Given the description of an element on the screen output the (x, y) to click on. 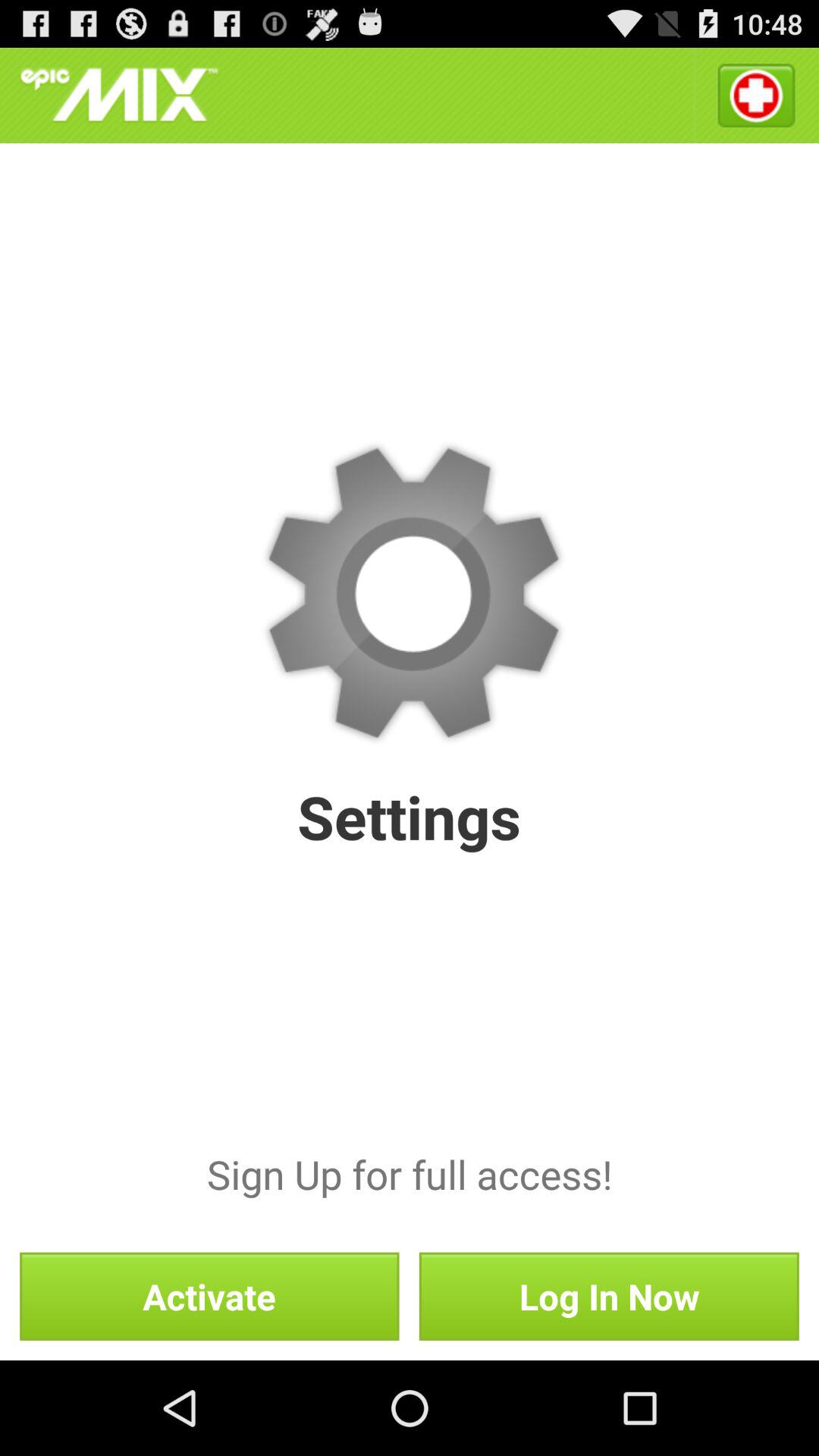
turn off item at the bottom right corner (609, 1296)
